Given the description of an element on the screen output the (x, y) to click on. 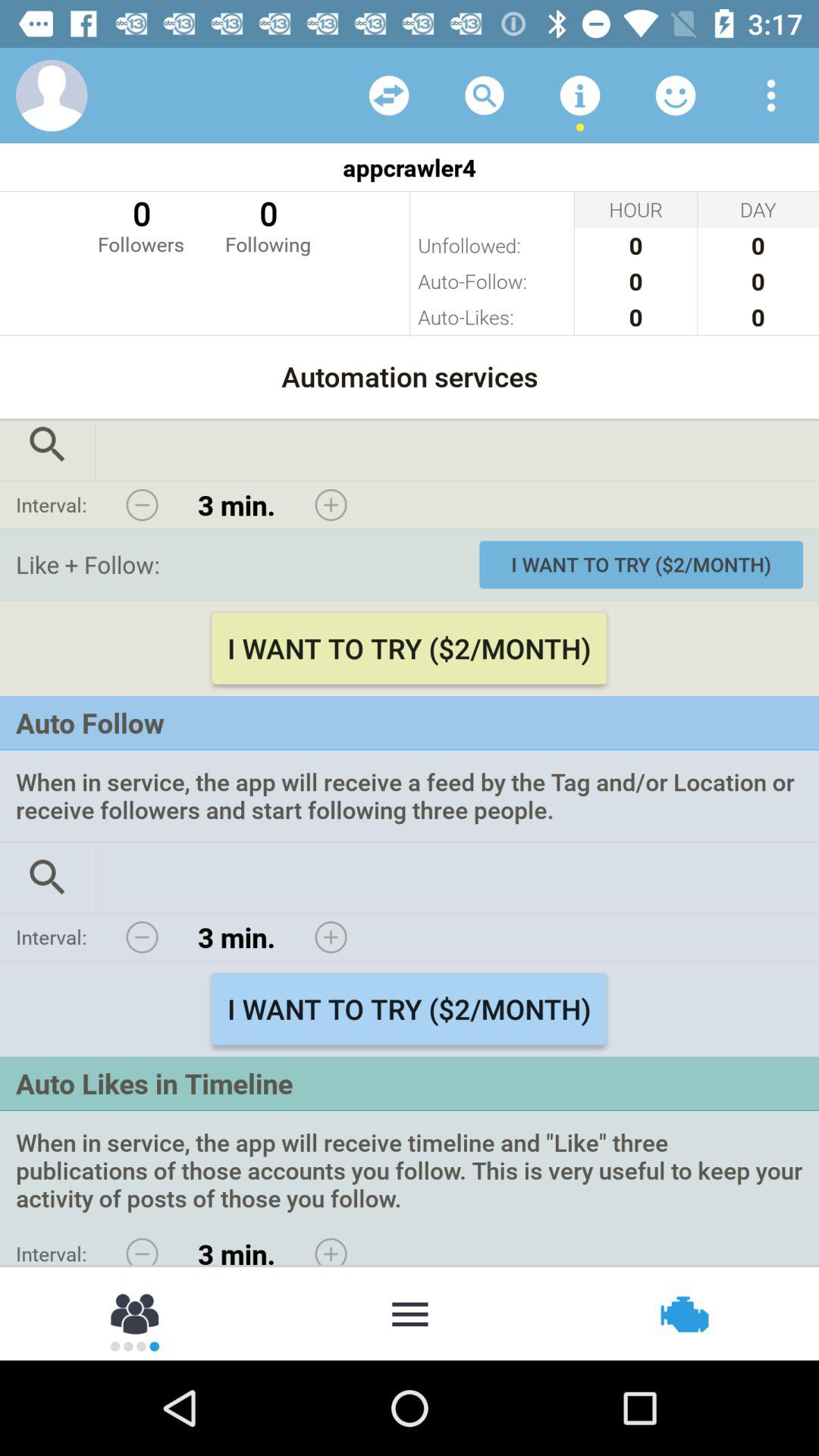
choose preferred view (771, 95)
